Given the description of an element on the screen output the (x, y) to click on. 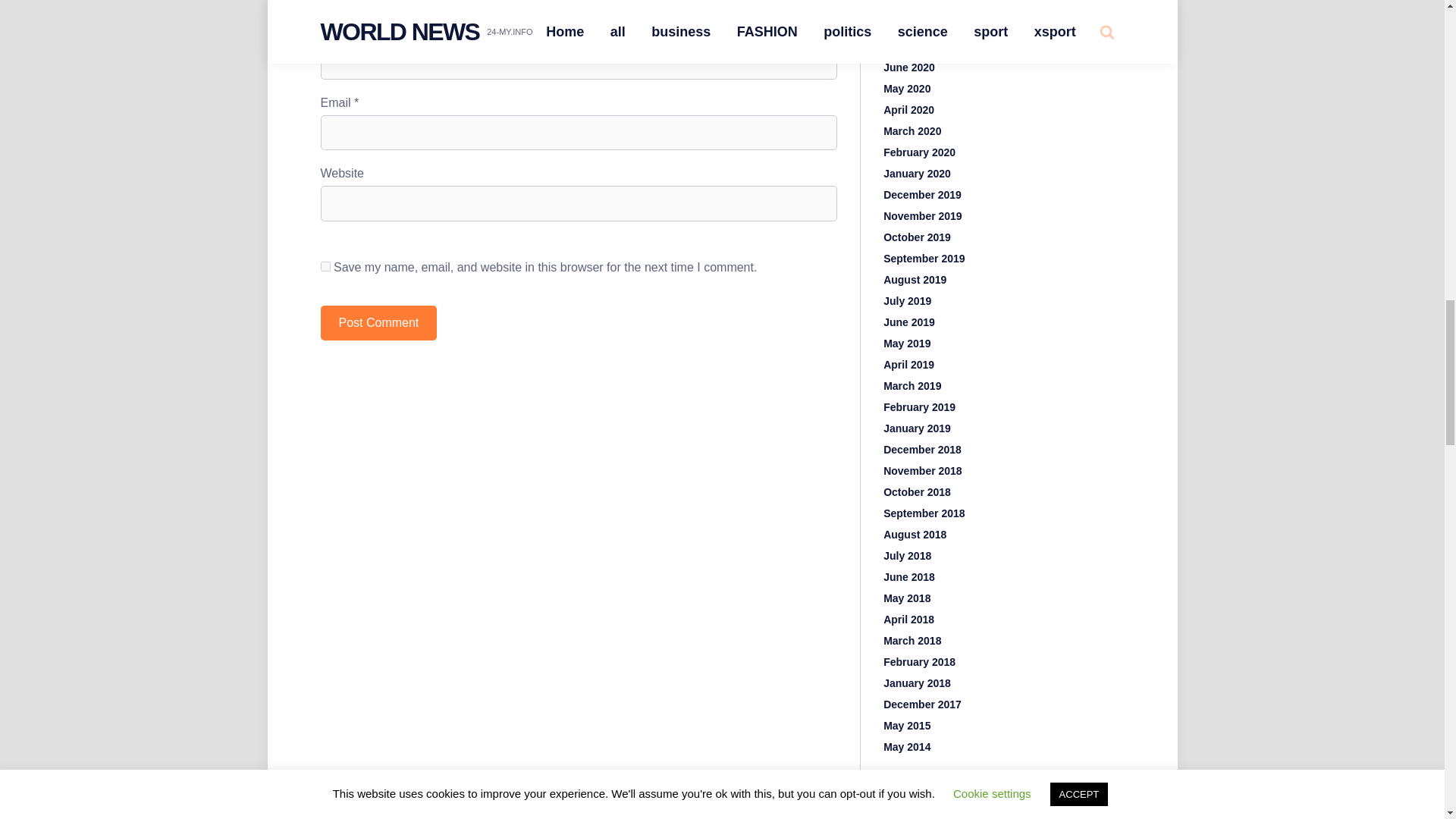
Post Comment (378, 322)
Post Comment (378, 322)
yes (325, 266)
